Given the description of an element on the screen output the (x, y) to click on. 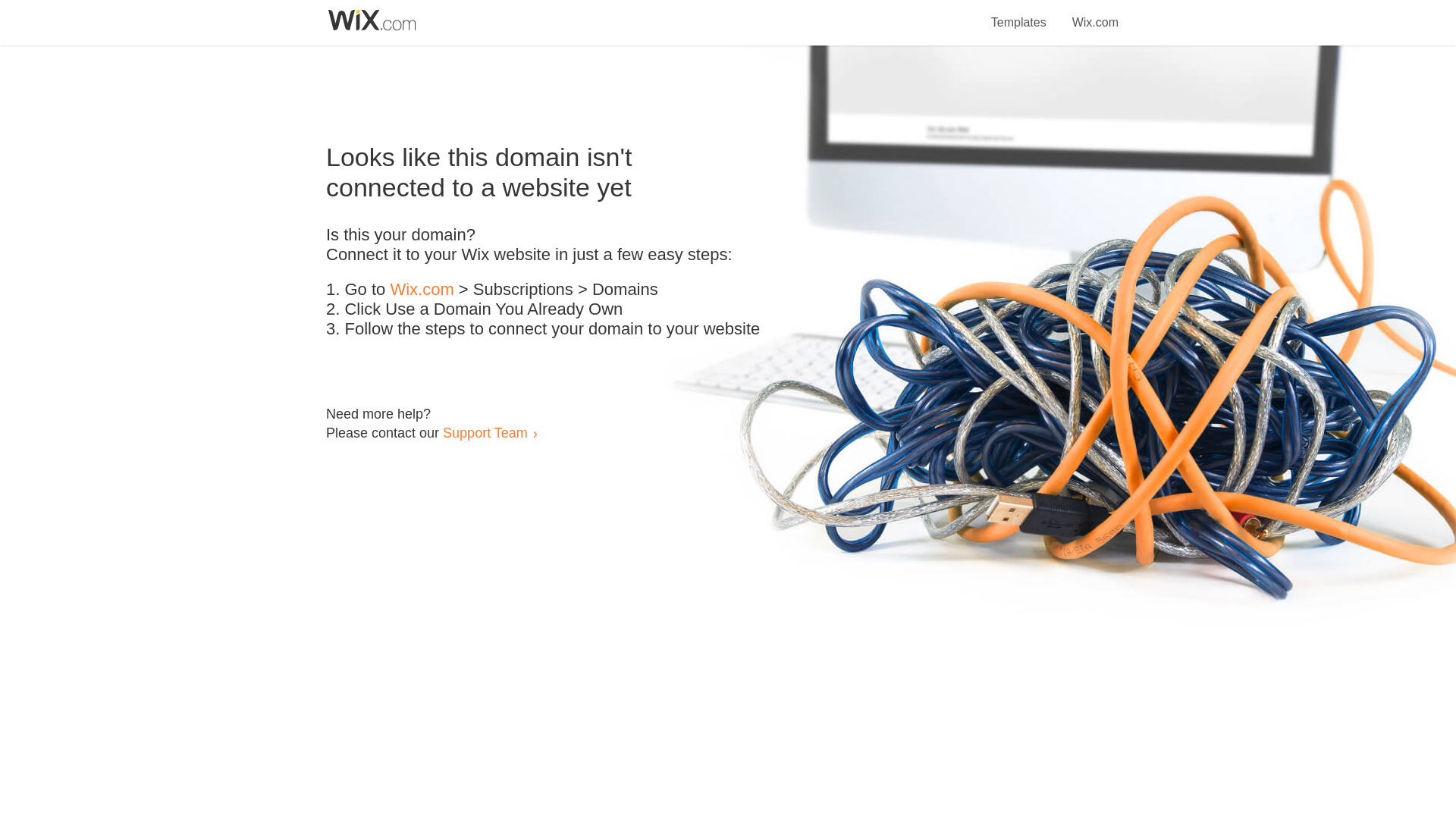
Support Team (484, 432)
Templates (1018, 14)
Wix.com (421, 289)
Wix.com (1095, 14)
